Given the description of an element on the screen output the (x, y) to click on. 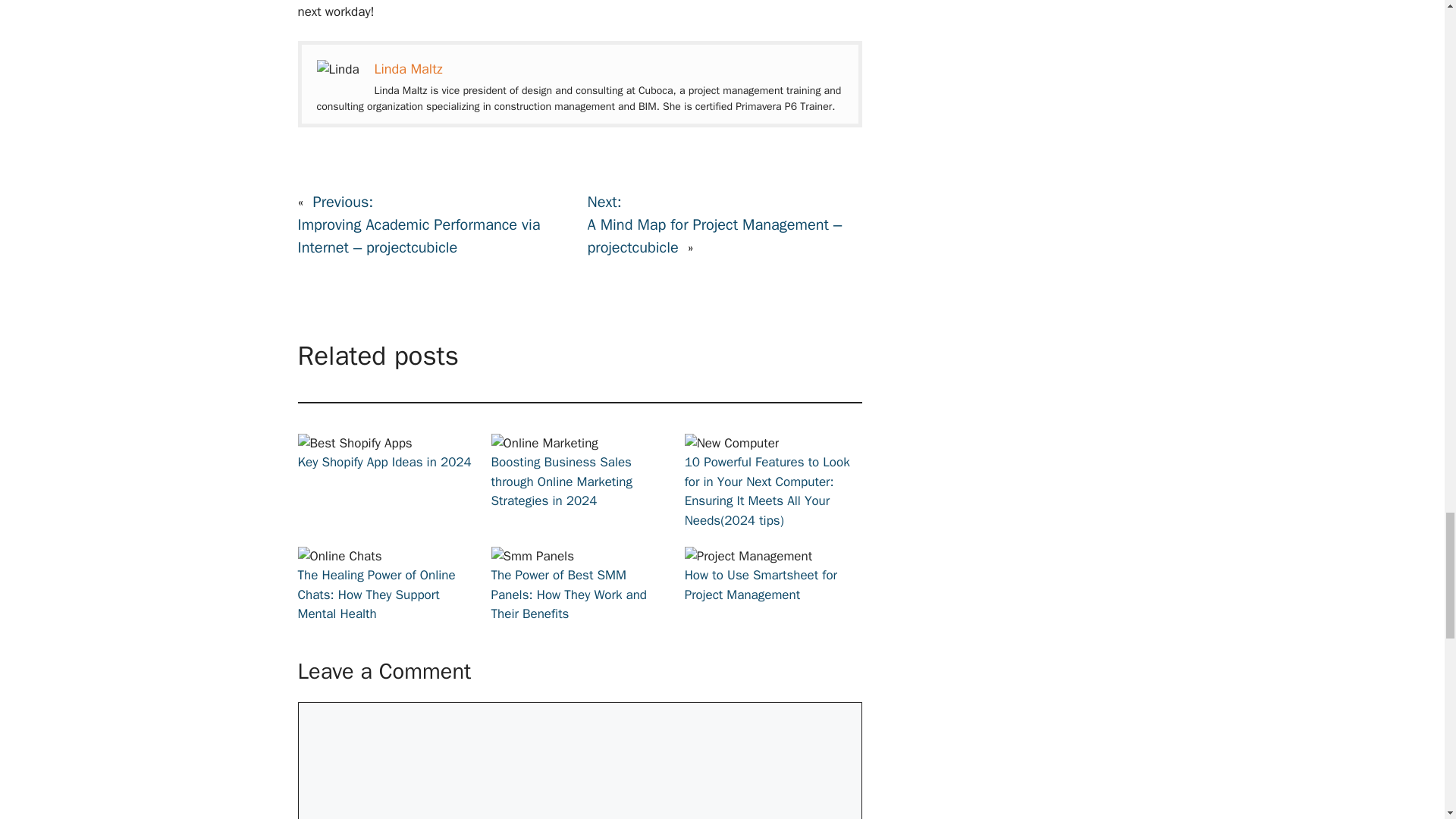
Key Shopify App Ideas In 2024 4 (354, 443)
Project Management Apps Reviewed - Projectcubicle 2 (338, 68)
